Given the description of an element on the screen output the (x, y) to click on. 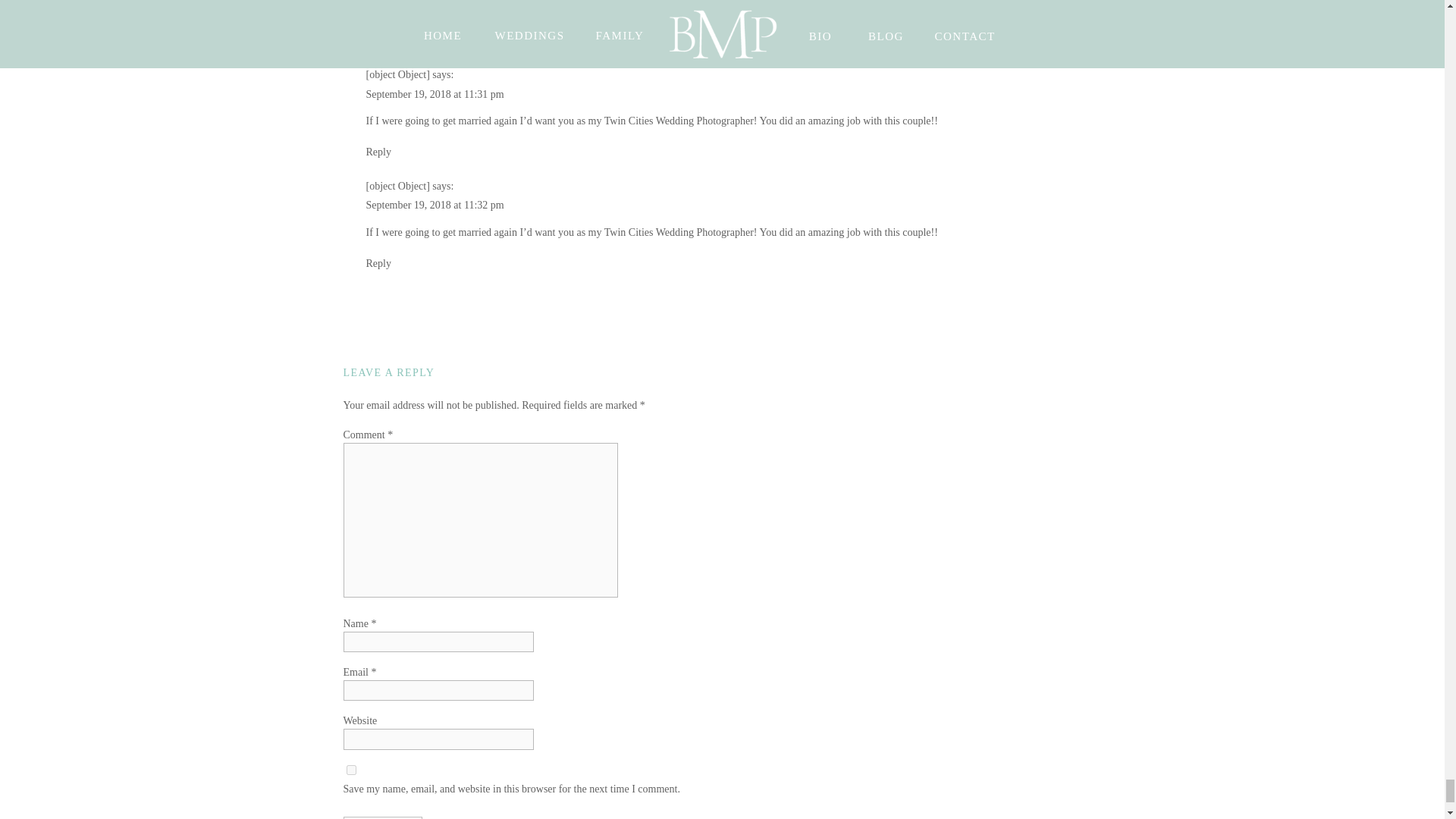
Post Comment (382, 817)
yes (350, 769)
Reply (377, 40)
Reply (377, 152)
September 19, 2018 at 11:31 pm (434, 93)
Reply (377, 263)
Post Comment (382, 817)
September 19, 2018 at 11:32 pm (434, 204)
